Given the description of an element on the screen output the (x, y) to click on. 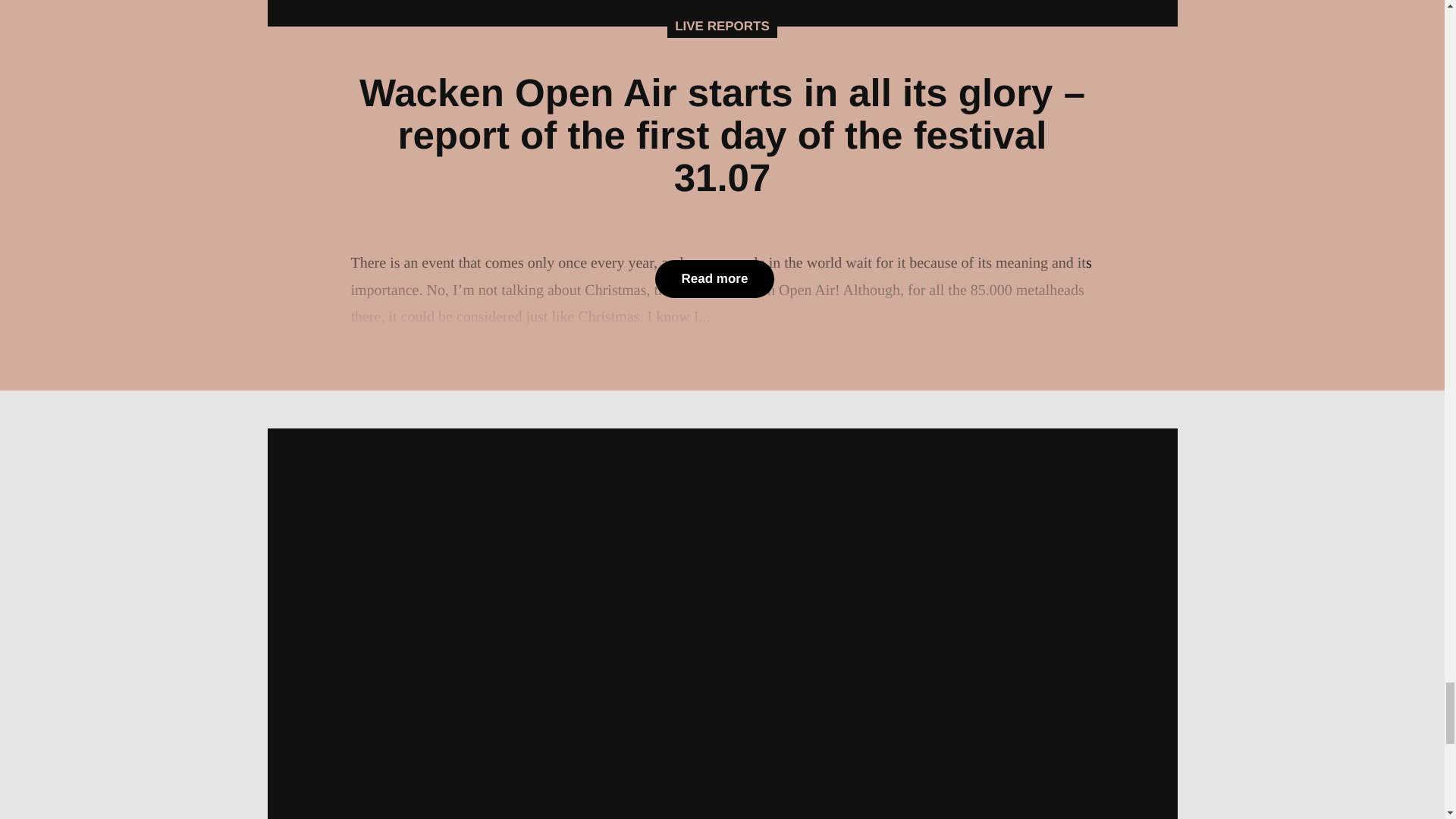
LIVE REPORTS (721, 26)
